Given the description of an element on the screen output the (x, y) to click on. 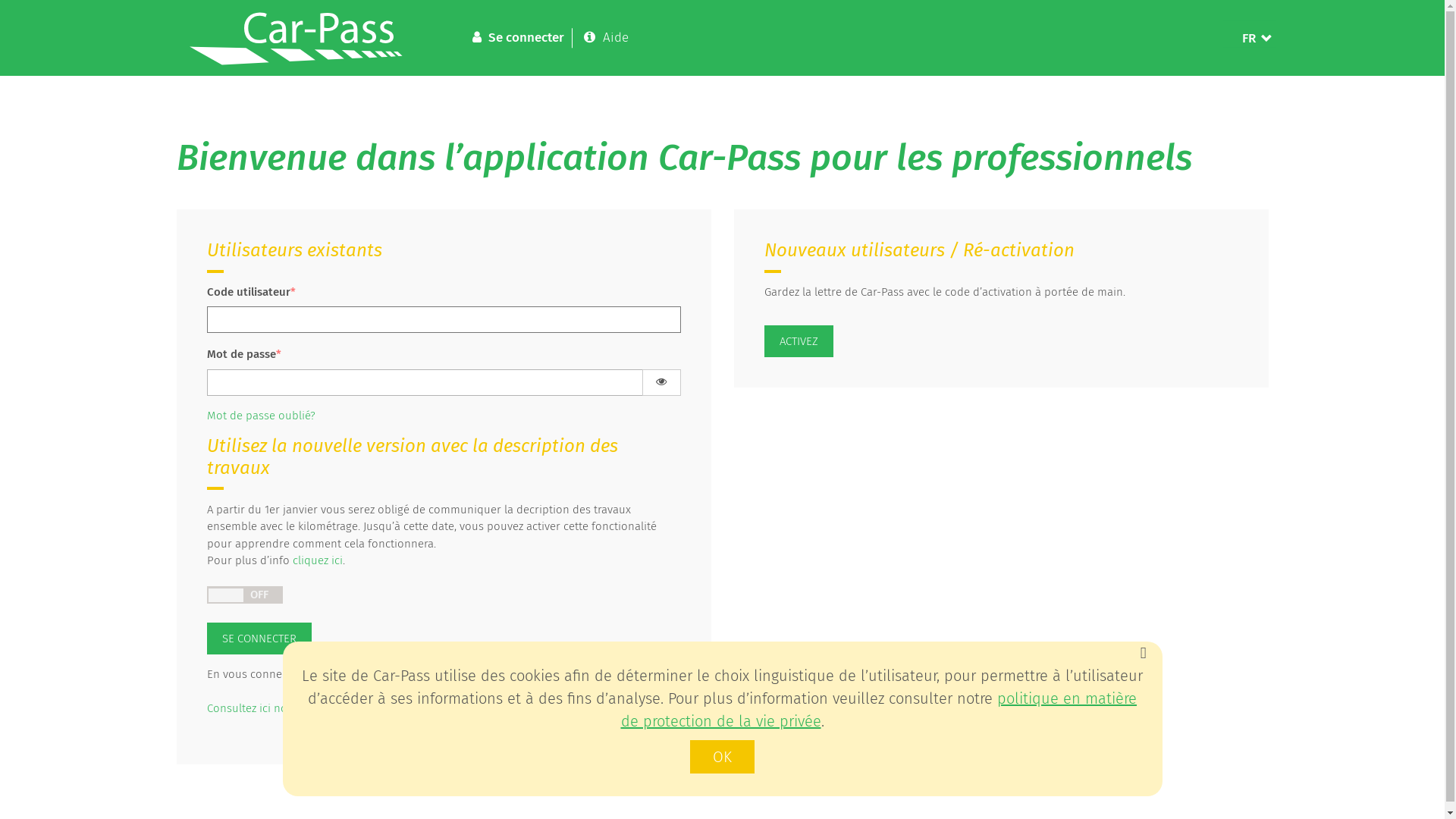
logo-white Element type: text (300, 40)
ACTIVEZ Element type: text (798, 341)
OK Element type: text (722, 756)
SE CONNECTER Element type: text (258, 638)
Se connecter Element type: text (517, 37)
Aide Element type: text (605, 37)
cliquez ici Element type: text (317, 560)
FR Element type: text (1248, 38)
